Given the description of an element on the screen output the (x, y) to click on. 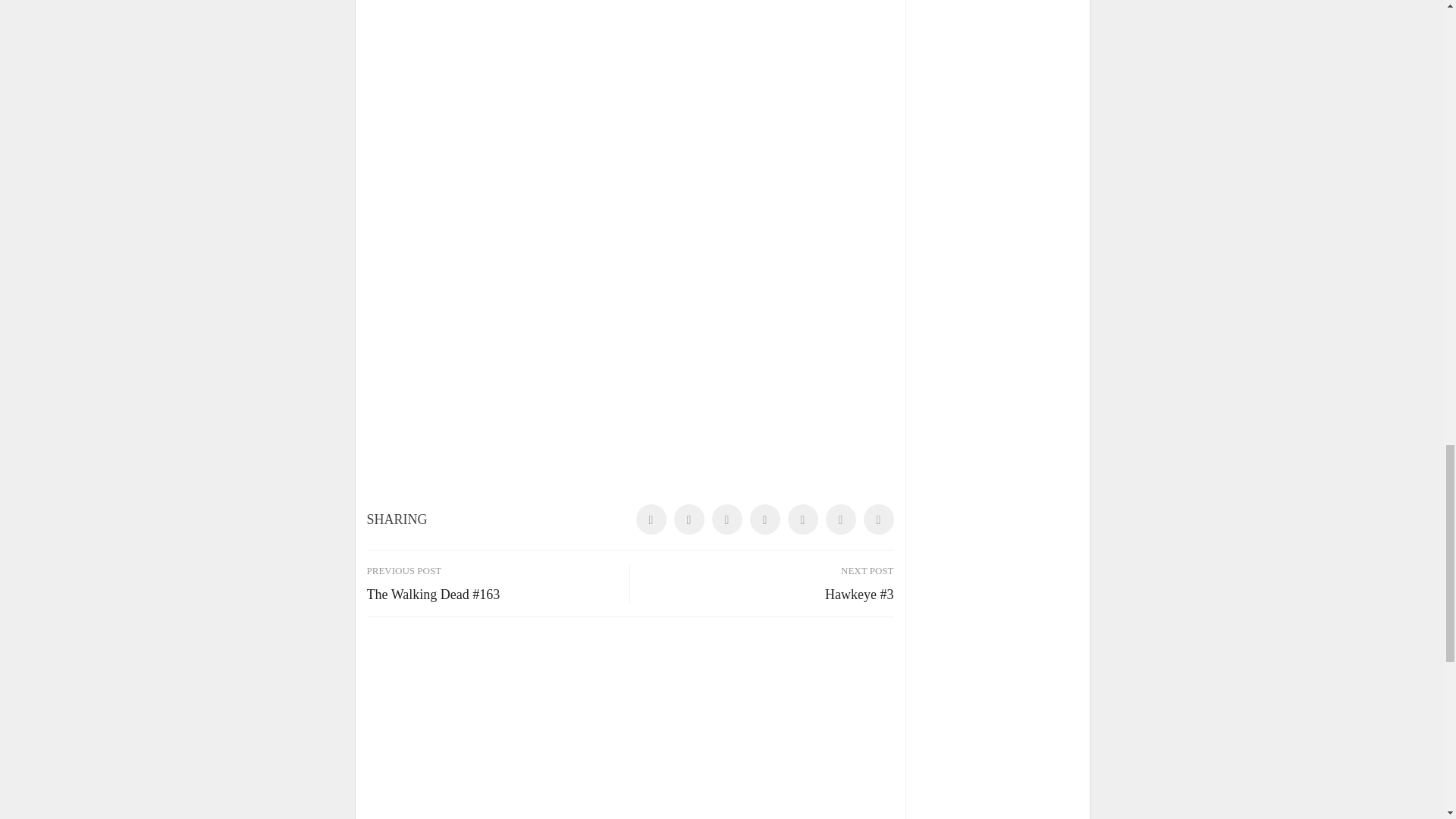
Share on Facebook (649, 519)
Share on Tumblr (763, 519)
Share on Twitter (687, 519)
Share on LinkedIn (726, 519)
